Given the description of an element on the screen output the (x, y) to click on. 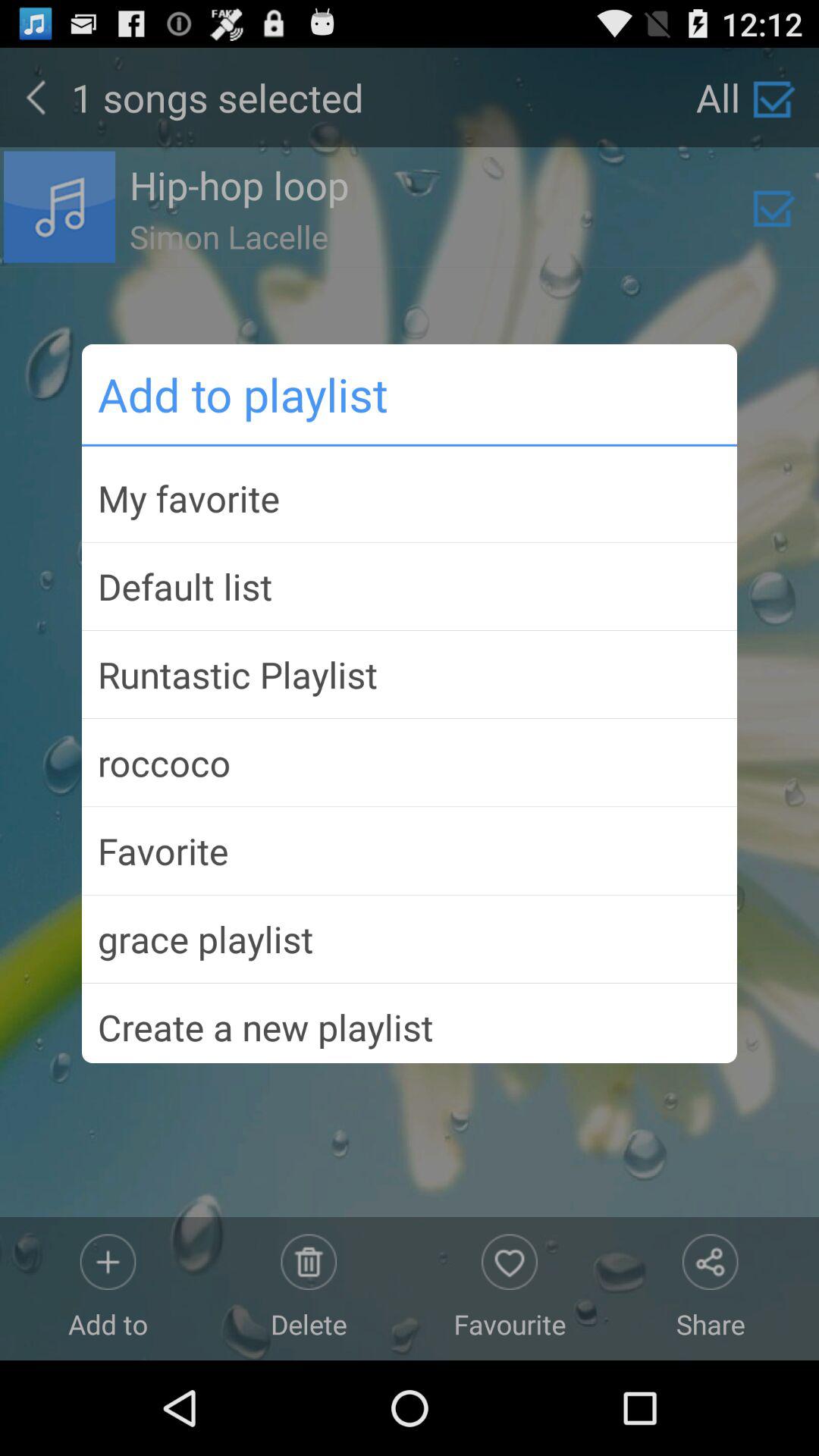
turn on icon below the favorite app (409, 938)
